Given the description of an element on the screen output the (x, y) to click on. 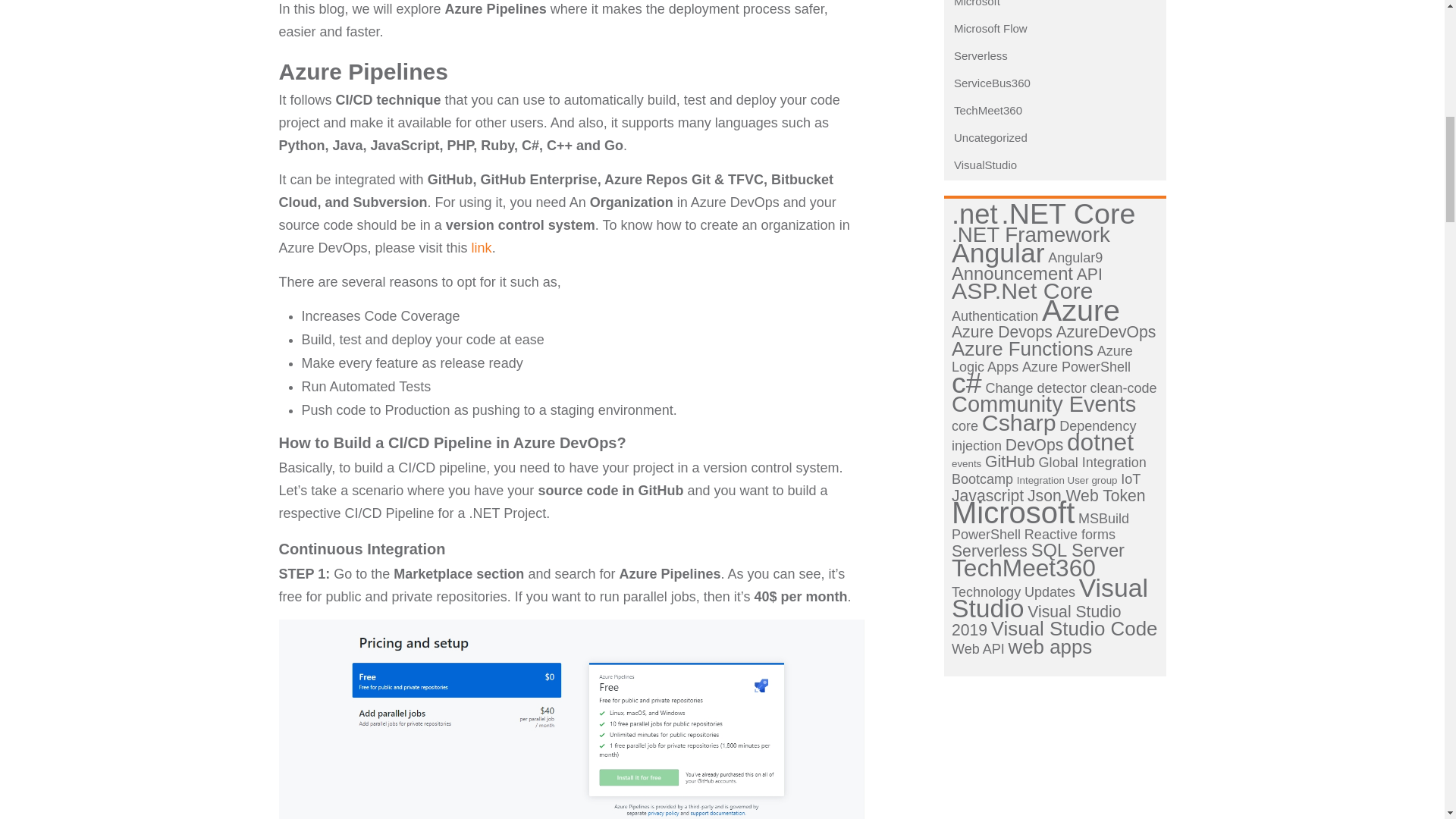
VisualStudio (981, 164)
Angular9 (1075, 257)
.NET Framework (1030, 234)
TechMeet360 (984, 110)
API (1089, 273)
Uncategorized (986, 137)
ServiceBus360 (988, 82)
Microsoft (973, 3)
.NET Core (1068, 214)
link (481, 247)
